Given the description of an element on the screen output the (x, y) to click on. 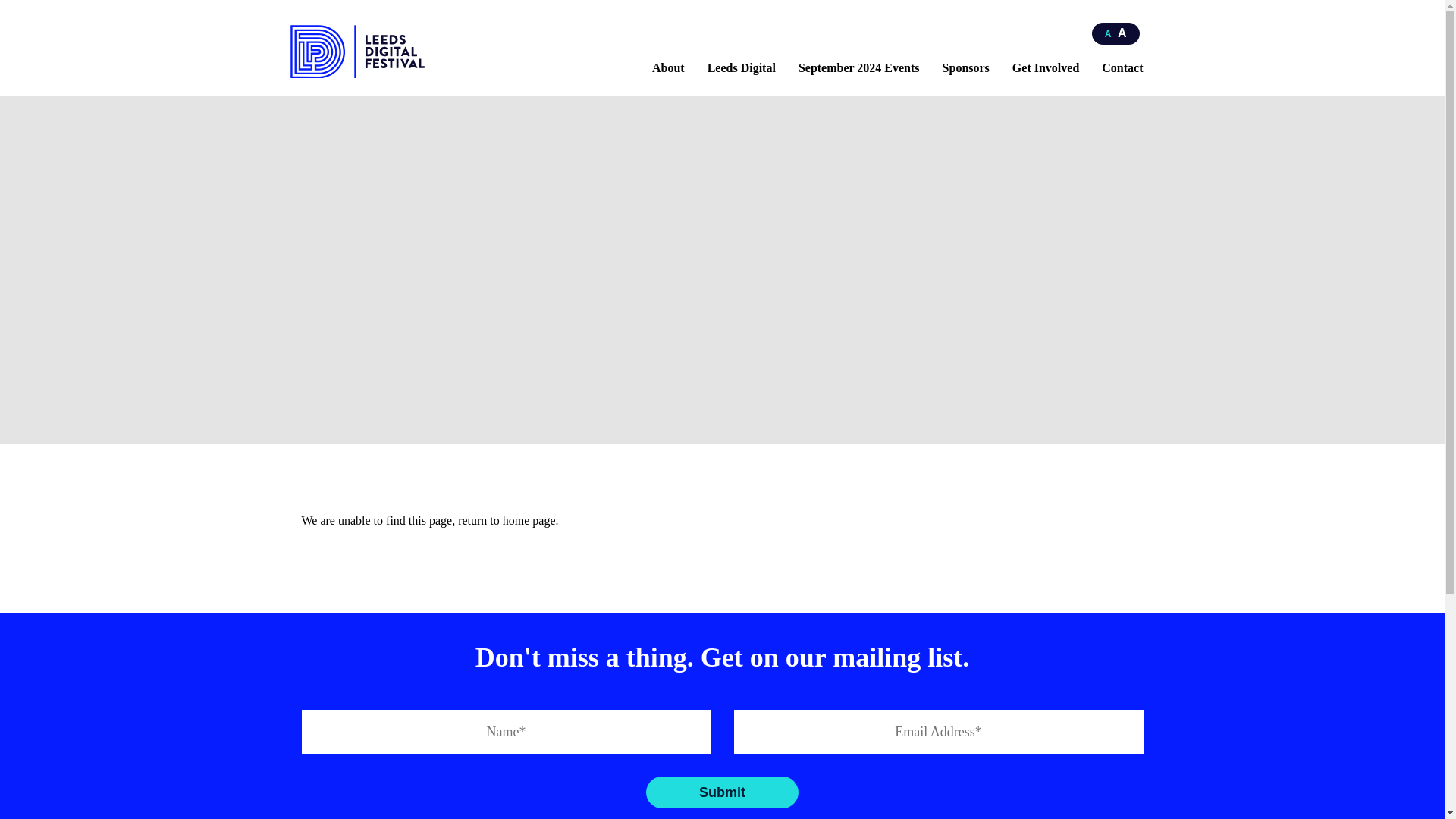
September 2024 Events (858, 68)
Contact (1122, 68)
About (668, 68)
Submit (721, 792)
Get Involved (1044, 68)
A A (1116, 33)
Sponsors (966, 68)
Submit (721, 792)
Leeds Digital (741, 68)
return to home page (506, 520)
